Given the description of an element on the screen output the (x, y) to click on. 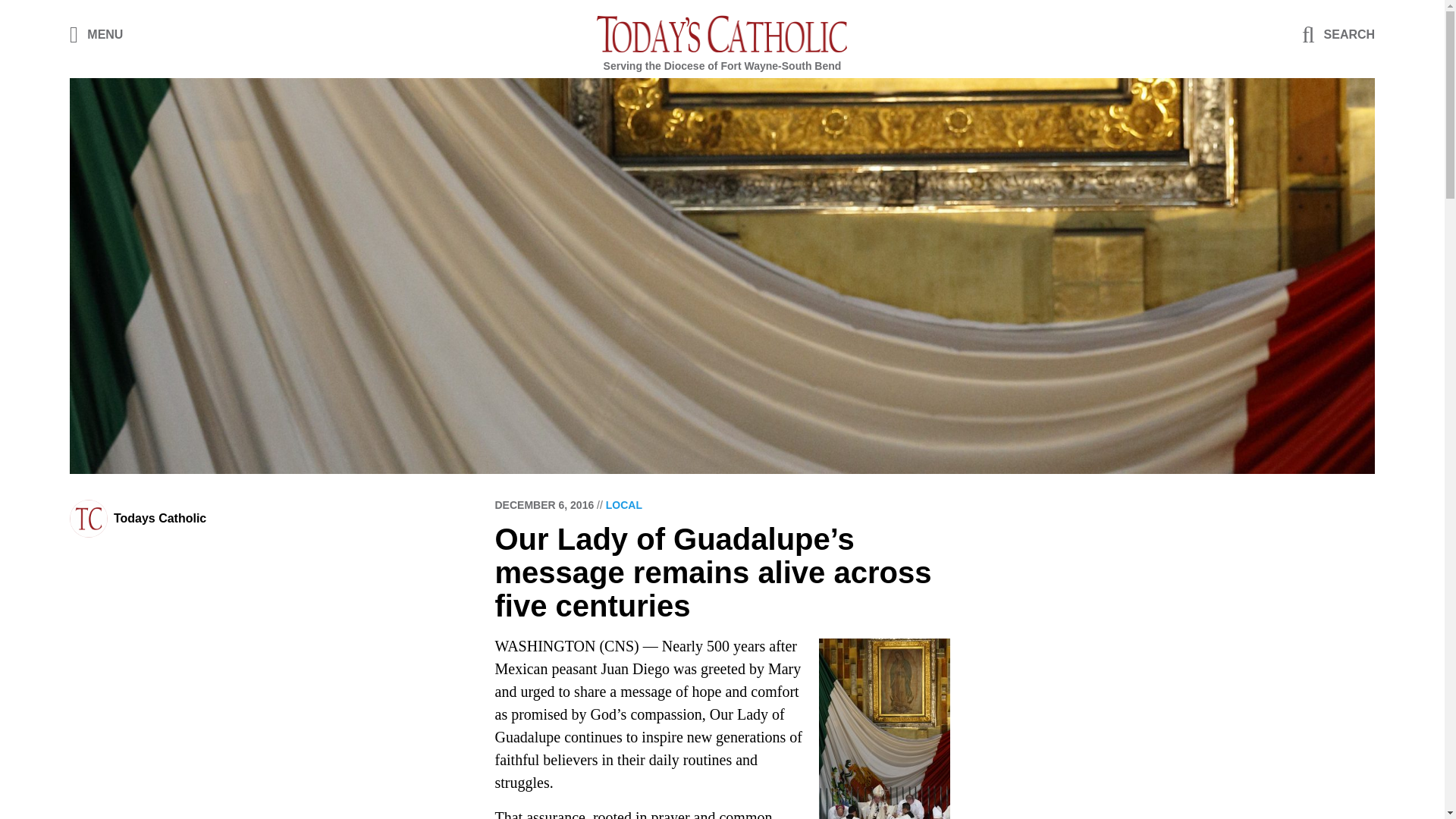
Todays Catholic (159, 517)
MENU (96, 33)
LOCAL (623, 504)
